Given the description of an element on the screen output the (x, y) to click on. 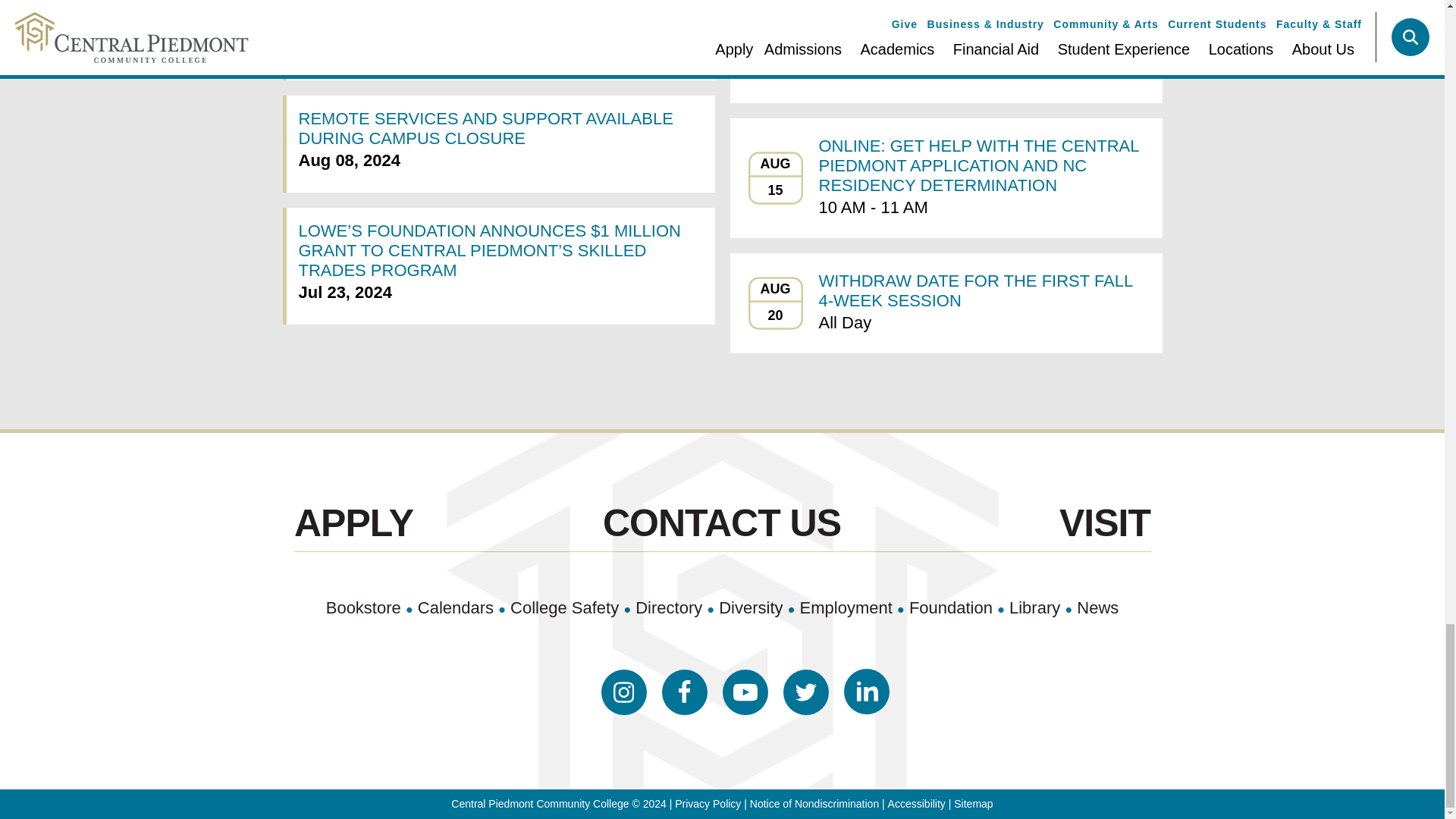
Follow us on Instagram (622, 691)
Enroll Now  (353, 523)
Visit us on Facebook (683, 691)
Find us on YouTube (744, 691)
Follow us on Twitter (805, 691)
Follow us on LinkedIn (865, 691)
Request Information (721, 523)
